Given the description of an element on the screen output the (x, y) to click on. 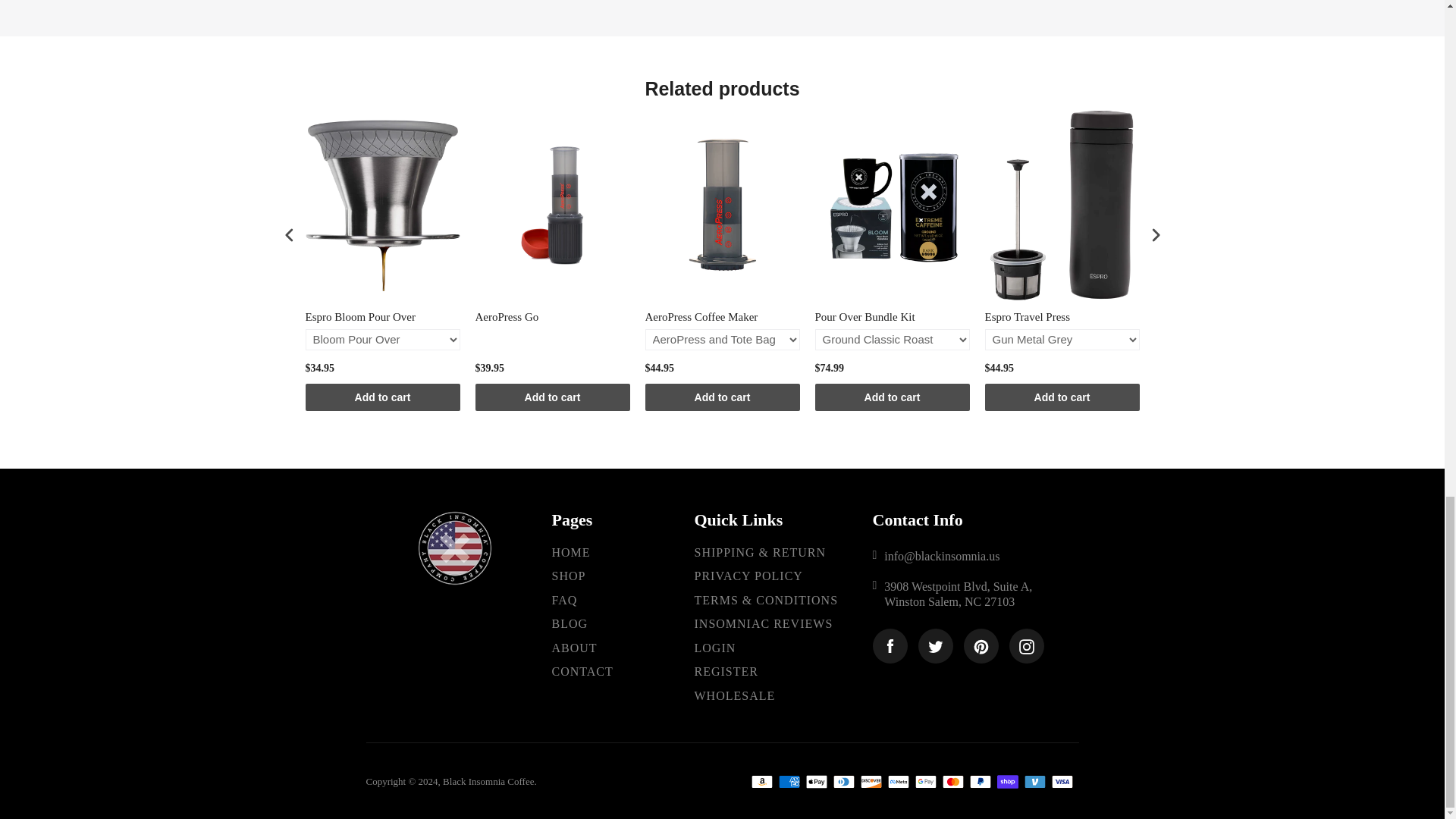
Discover (870, 782)
Black Insomnia Coffee on Instagram (1026, 645)
Black Insomnia Coffee on Pinterest (979, 645)
Diners Club (842, 782)
Apple Pay (816, 782)
American Express (788, 782)
Black Insomnia Coffee on Twitter (934, 645)
Product reviews widget (721, 18)
Black Insomnia Coffee on Facebook (889, 645)
Amazon (761, 782)
